Given the description of an element on the screen output the (x, y) to click on. 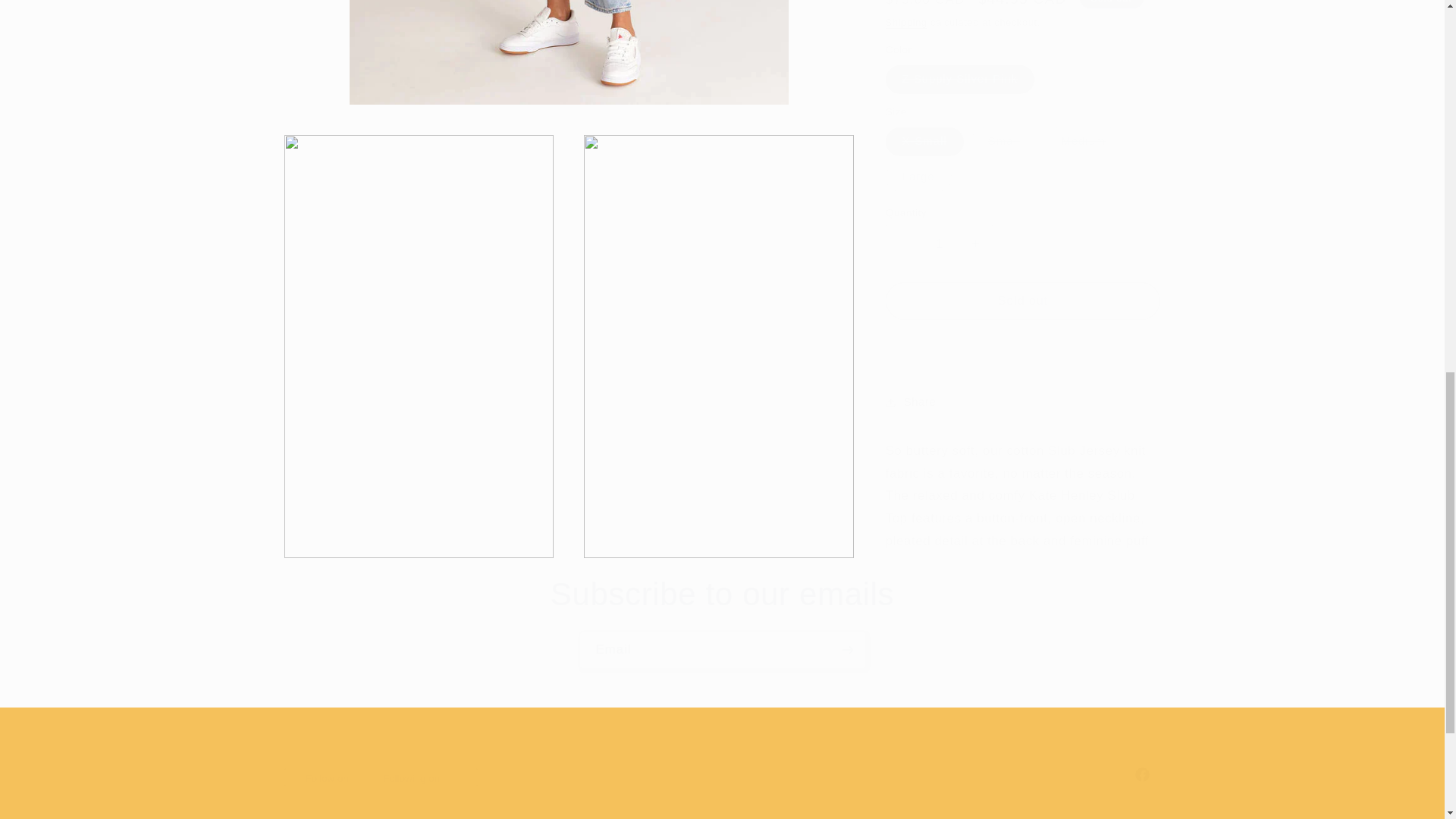
Open media 1 in modal (568, 44)
Email (722, 650)
Subscribe to our emails (722, 594)
Facebook (721, 773)
